Given the description of an element on the screen output the (x, y) to click on. 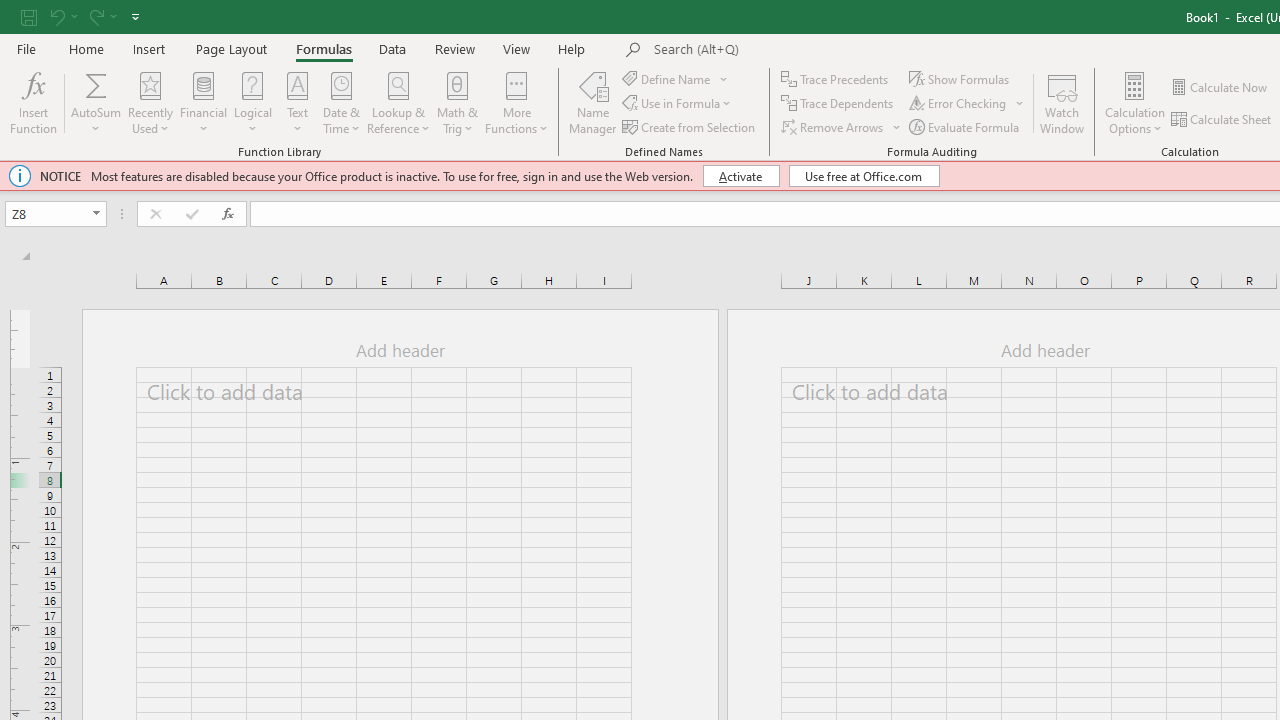
Sum (96, 84)
Recently Used (150, 102)
Evaluate Formula (966, 126)
Error Checking... (959, 103)
Insert Function... (33, 102)
Calculate Sheet (1222, 119)
More Functions (516, 102)
Date & Time (342, 102)
Create from Selection... (690, 126)
Use free at Office.com (863, 175)
Remove Arrows (842, 126)
